Given the description of an element on the screen output the (x, y) to click on. 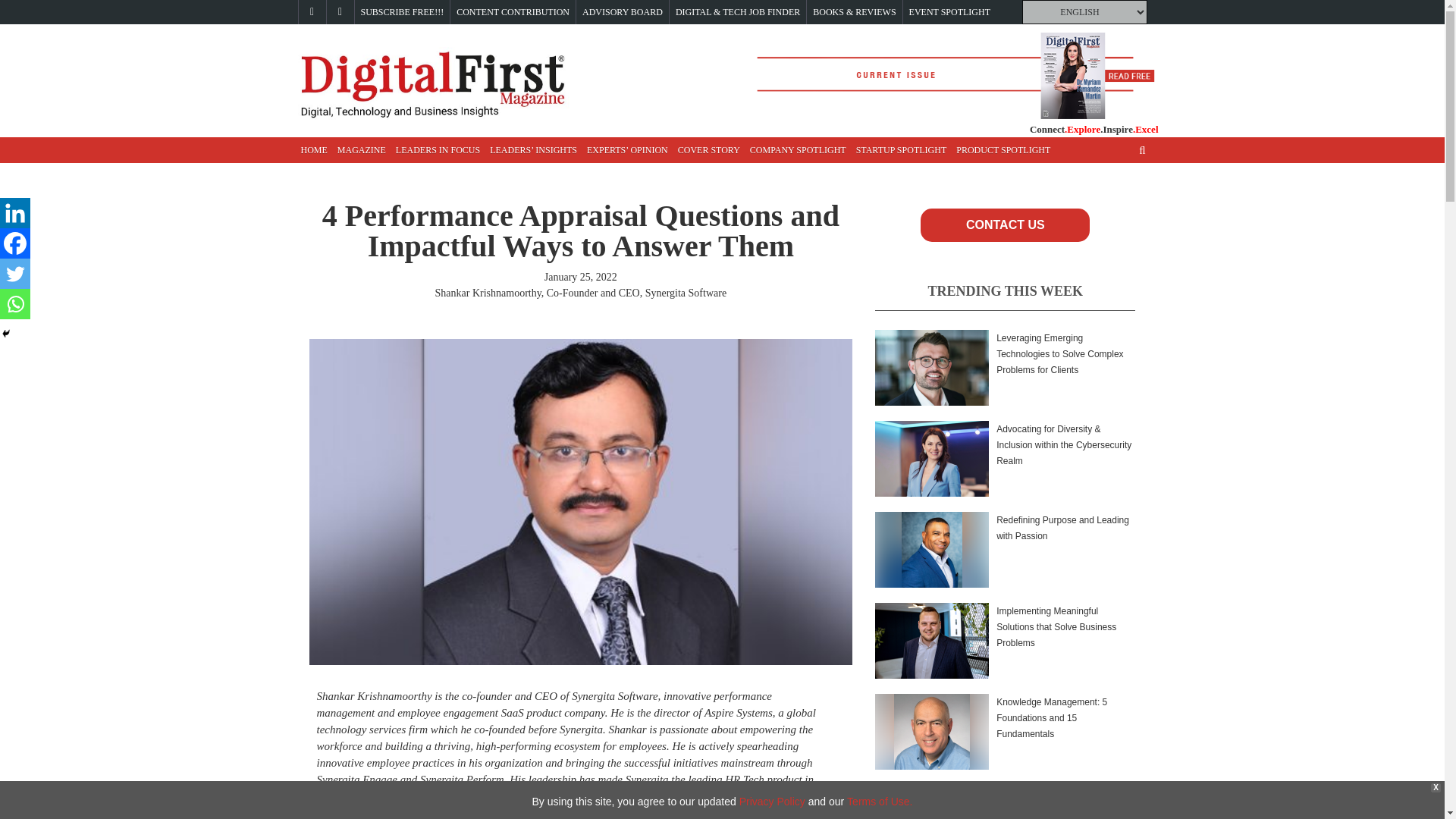
Linkedin (15, 213)
LEADERS IN FOCUS (438, 149)
ADVISORY BOARD (622, 12)
Twitter (15, 273)
HOME (313, 149)
COVER STORY (708, 149)
Facebook (15, 243)
Hide (5, 333)
MAGAZINE (361, 149)
EVENT SPOTLIGHT (949, 12)
Whatsapp (15, 304)
CONTENT CONTRIBUTION (513, 12)
SUBSCRIBE FREE!!! (402, 12)
